Given the description of an element on the screen output the (x, y) to click on. 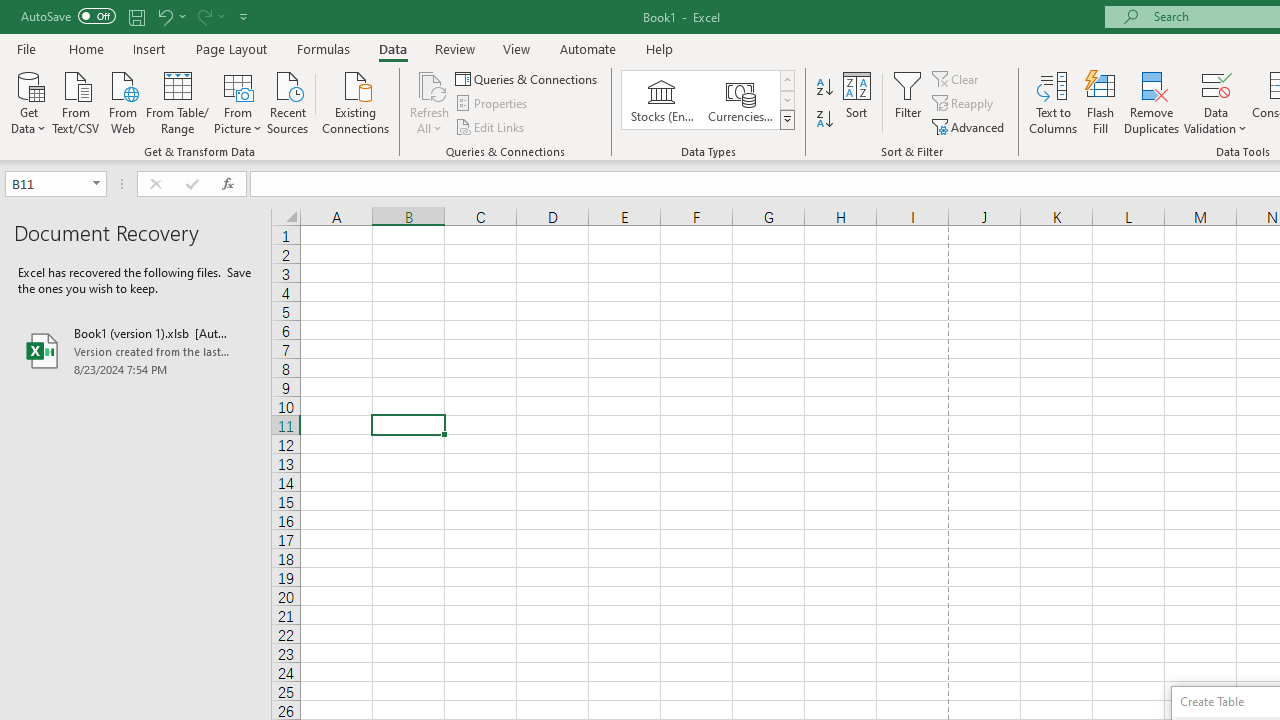
Remove Duplicates (1151, 102)
Filter (908, 102)
Data Types (786, 120)
Flash Fill (1101, 102)
From Web (122, 101)
Sort A to Z (824, 87)
Existing Connections (355, 101)
